Given the description of an element on the screen output the (x, y) to click on. 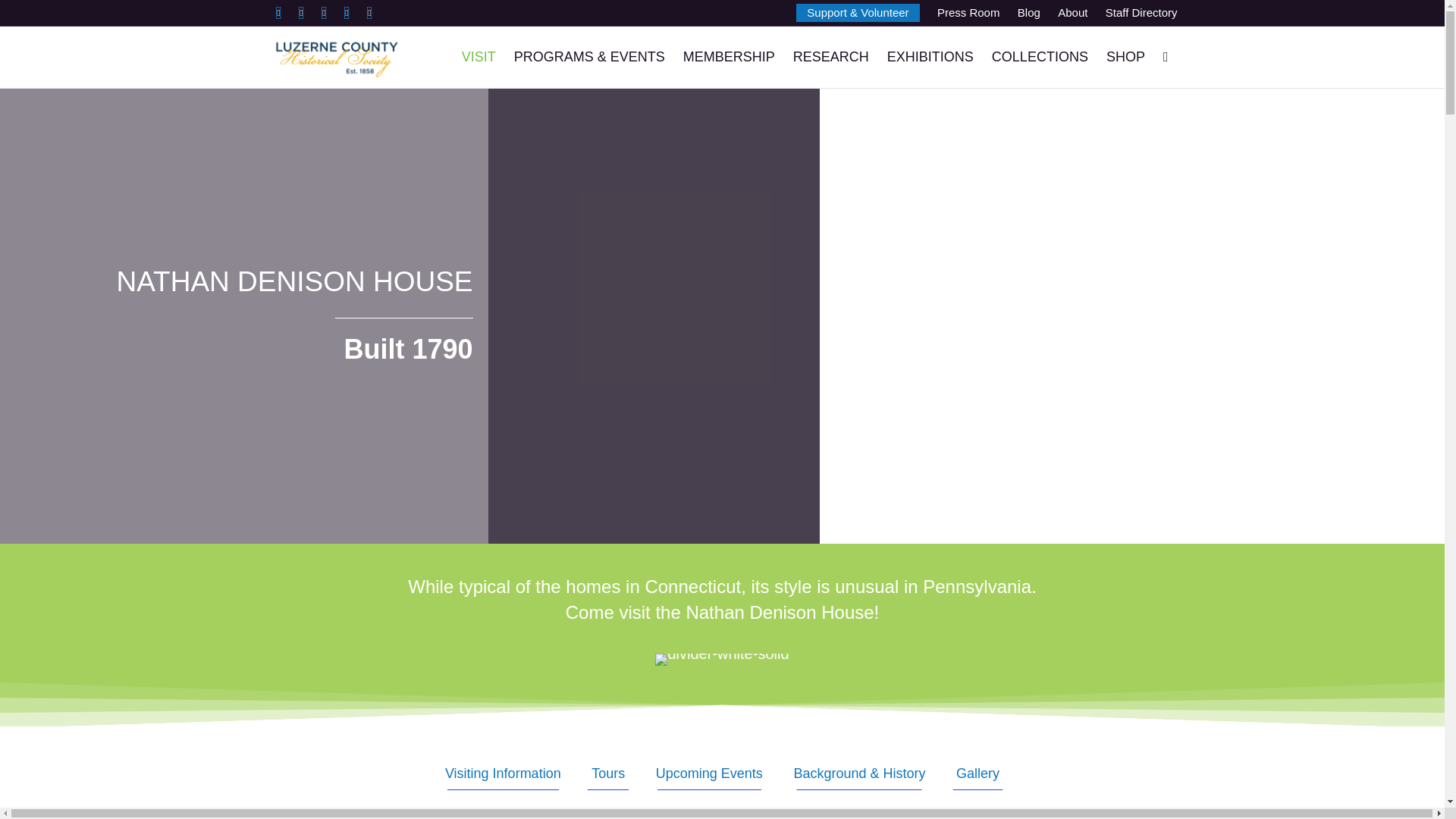
Press Room (968, 12)
Staff Directory (1141, 12)
Blog (1029, 12)
divider-white-solid (722, 659)
Youtube (323, 13)
Twitter (301, 13)
About (1071, 12)
VISIT (478, 56)
Instagram (346, 13)
Facebook (277, 13)
Rss (369, 13)
